Given the description of an element on the screen output the (x, y) to click on. 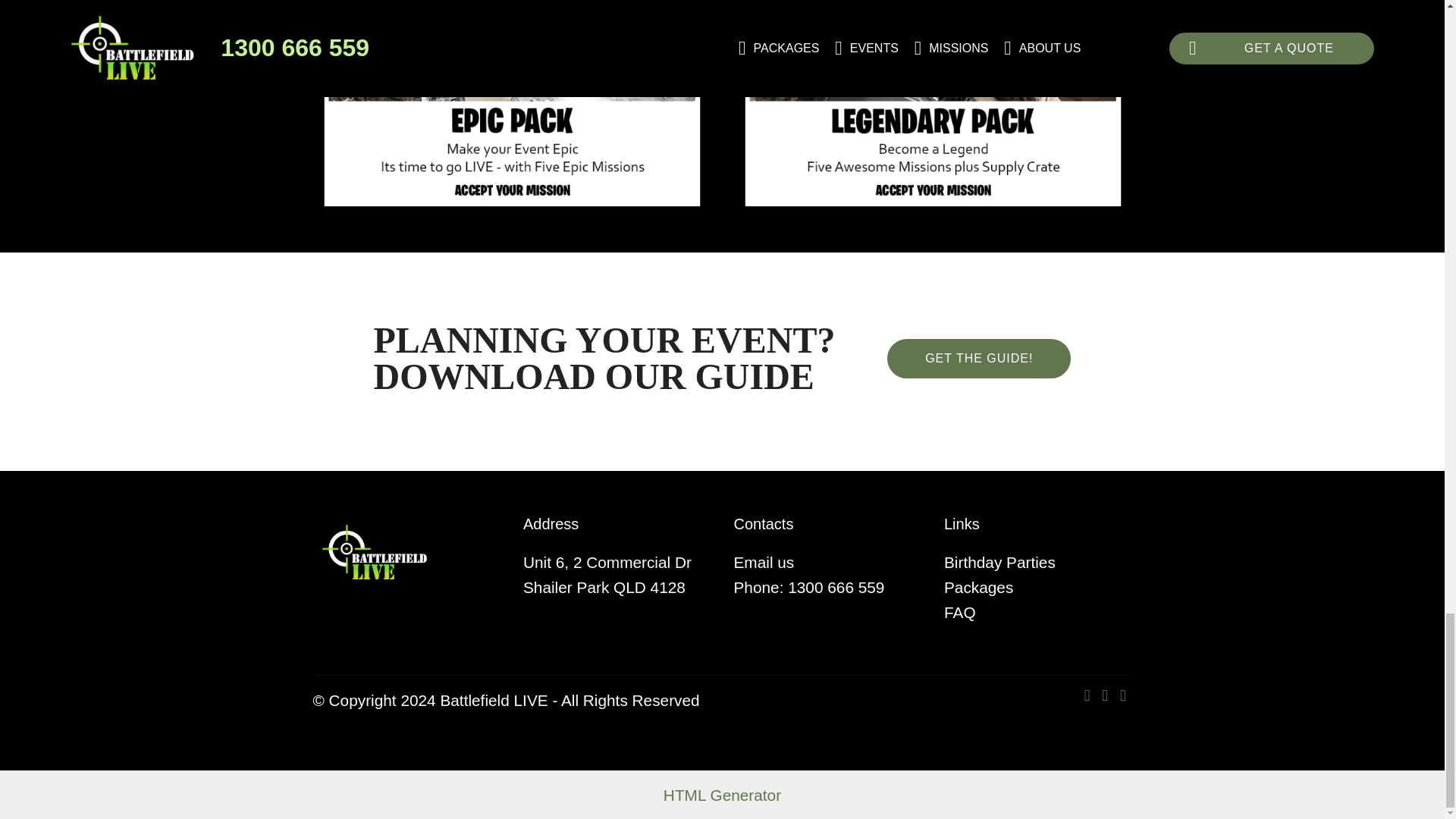
Email us (763, 561)
1300 666 559   (838, 587)
Birthday Parties (999, 561)
GET THE GUIDE! (978, 358)
epic pack (512, 108)
legendary pack (932, 108)
HTML Generator (721, 794)
FAQ (959, 611)
Packages (978, 587)
